Given the description of an element on the screen output the (x, y) to click on. 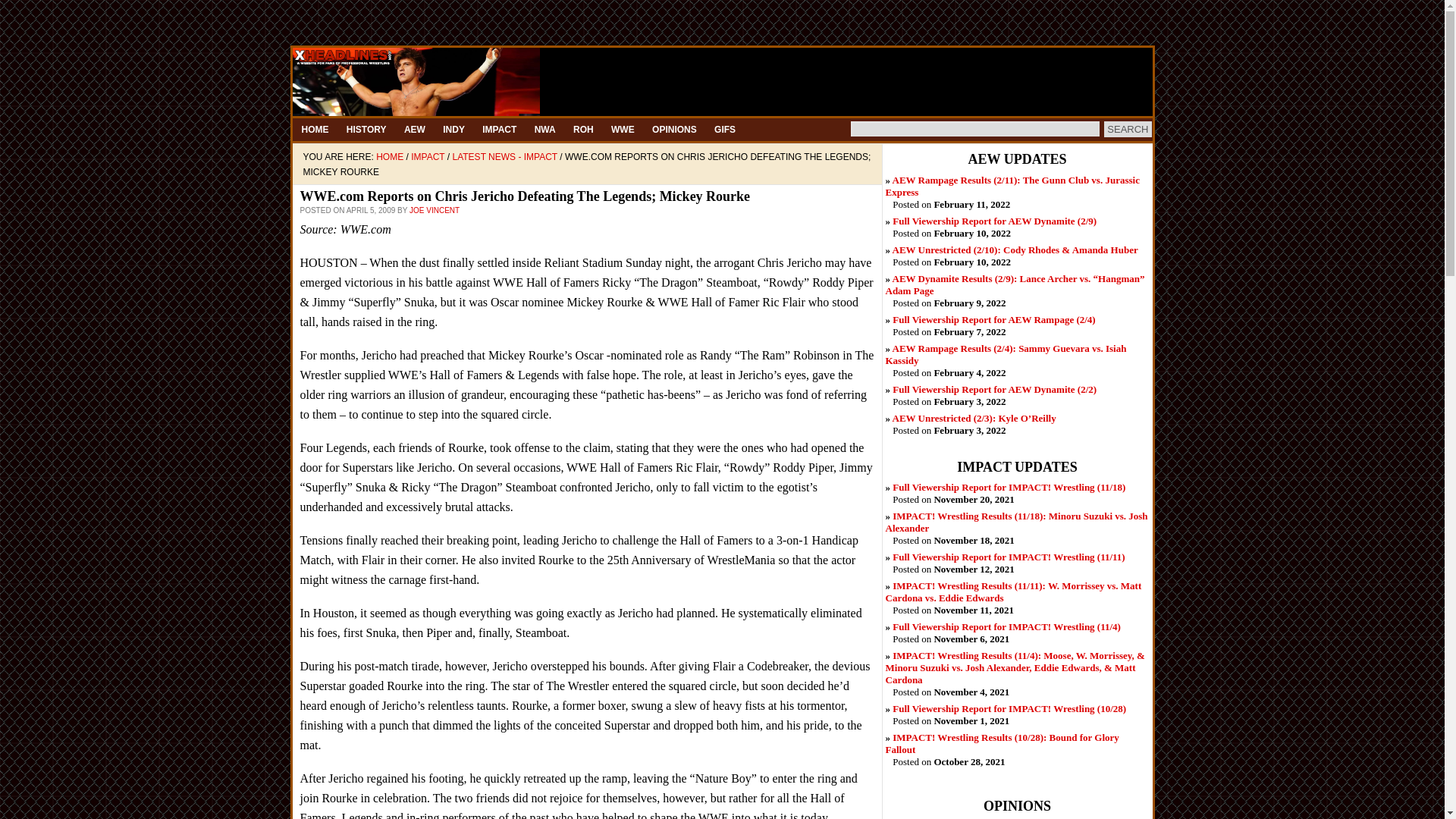
Search (1127, 129)
February 7, 2022 (993, 319)
November 4, 2021 (1014, 667)
February 9, 2022 (1014, 284)
GIFS (724, 128)
Search (1127, 129)
November 20, 2021 (1008, 487)
November 12, 2021 (1008, 556)
February 10, 2022 (994, 220)
AEW (413, 128)
INDY (453, 128)
February 3, 2022 (994, 389)
HISTORY (366, 128)
WWE (622, 128)
